Given the description of an element on the screen output the (x, y) to click on. 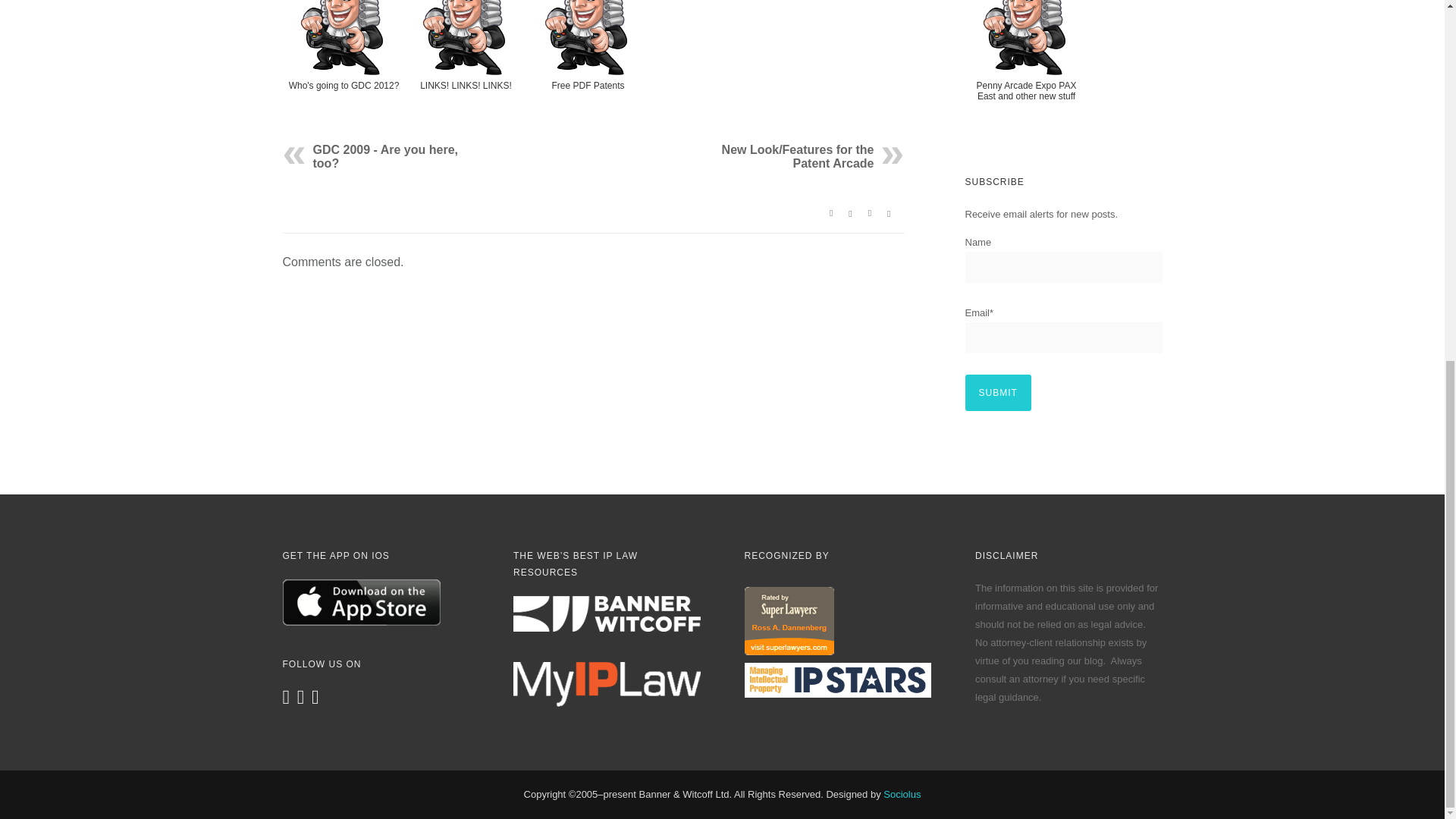
Submit (996, 392)
Submit (996, 392)
GDC 2009 - Are you here, too? (385, 156)
